Given the description of an element on the screen output the (x, y) to click on. 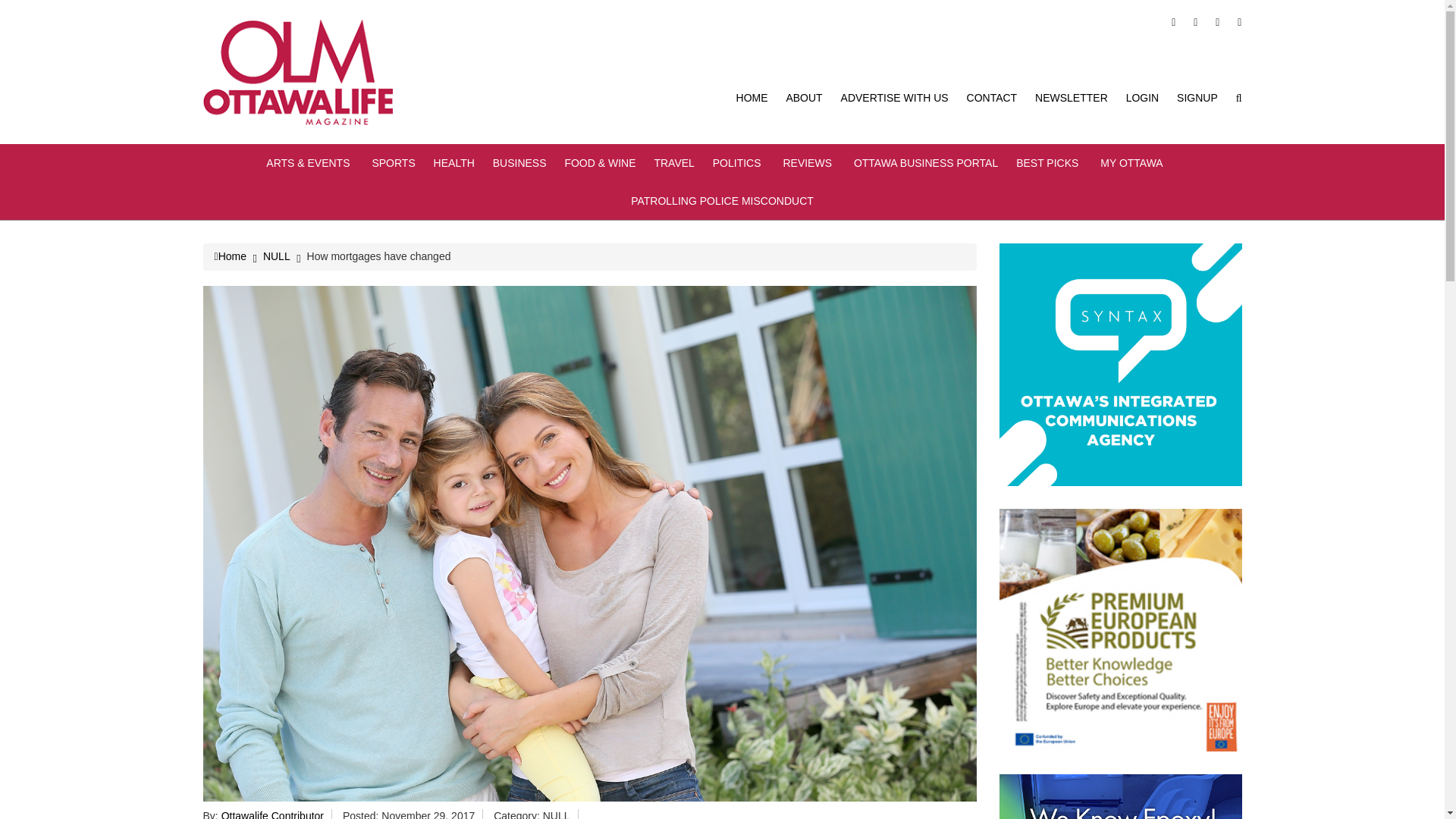
SPORTS (392, 162)
HOME (752, 97)
LOGIN (1141, 97)
TRAVEL (673, 162)
SIGNUP (1196, 97)
ABOUT (804, 97)
ADVERTISE WITH US (895, 97)
BUSINESS (520, 162)
NEWSLETTER (1071, 97)
HEALTH (453, 162)
REVIEWS (809, 162)
POLITICS (739, 162)
OTTAWA BUSINESS PORTAL (925, 162)
CONTACT (991, 97)
BEST PICKS (1048, 162)
